Given the description of an element on the screen output the (x, y) to click on. 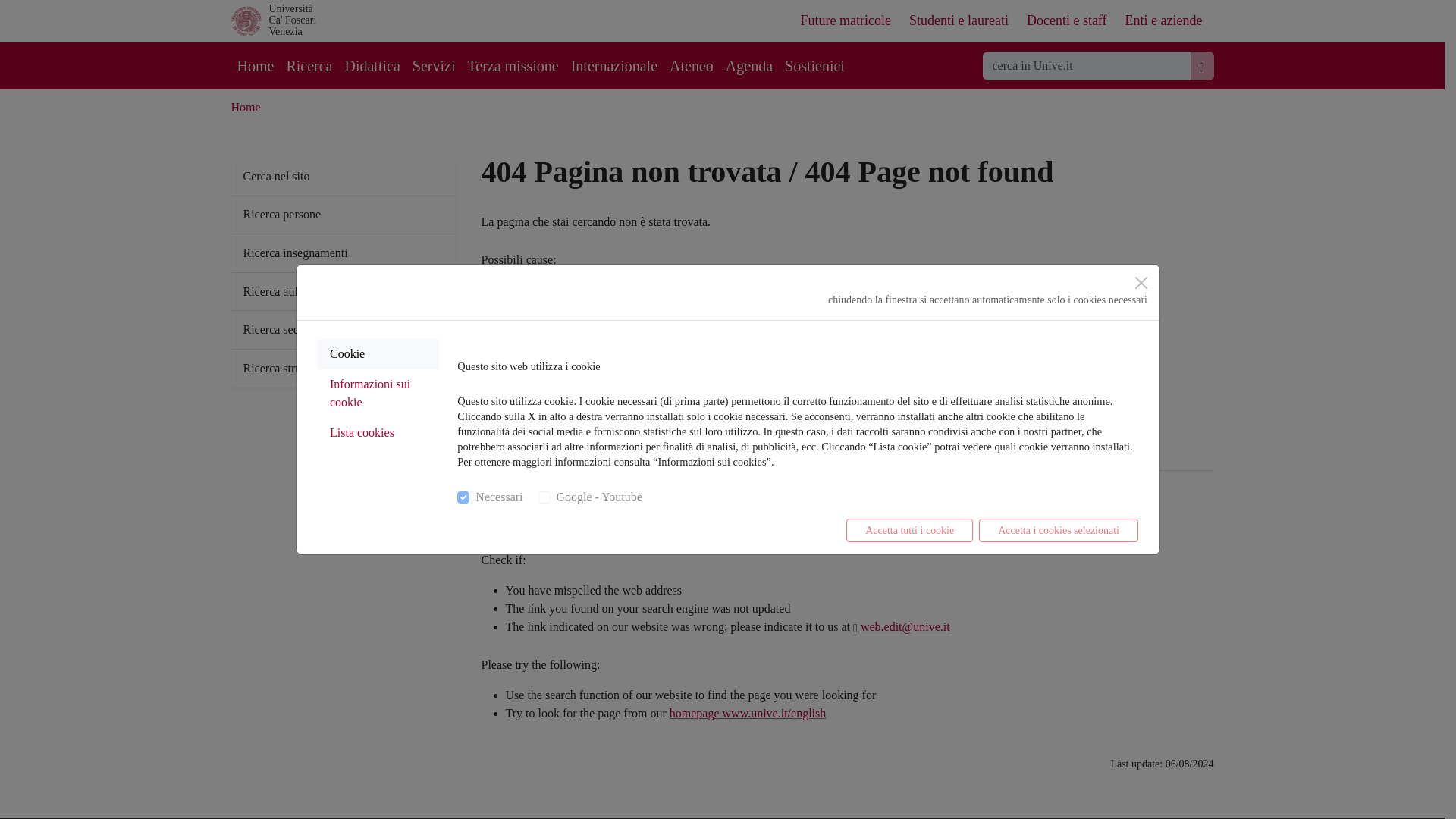
homepage di www.unive.it (766, 411)
Ricerca (308, 65)
Ateneo (691, 65)
Sostienici (814, 65)
noiframe (544, 497)
Docenti e staff (1066, 20)
Future matricole (844, 20)
Home (245, 106)
Didattica (371, 65)
Home (254, 65)
